Given the description of an element on the screen output the (x, y) to click on. 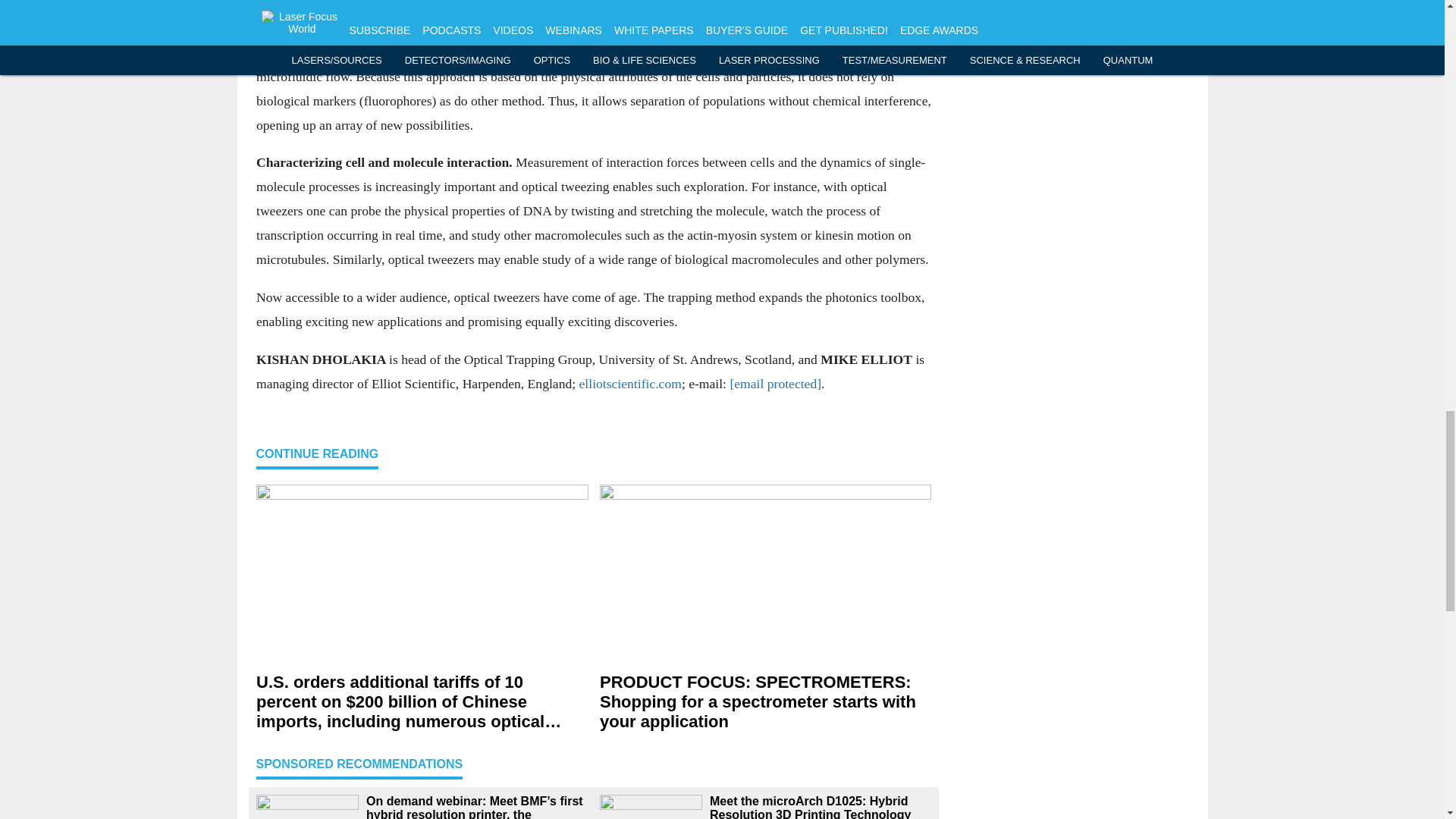
elliotscientific.com (629, 382)
